Given the description of an element on the screen output the (x, y) to click on. 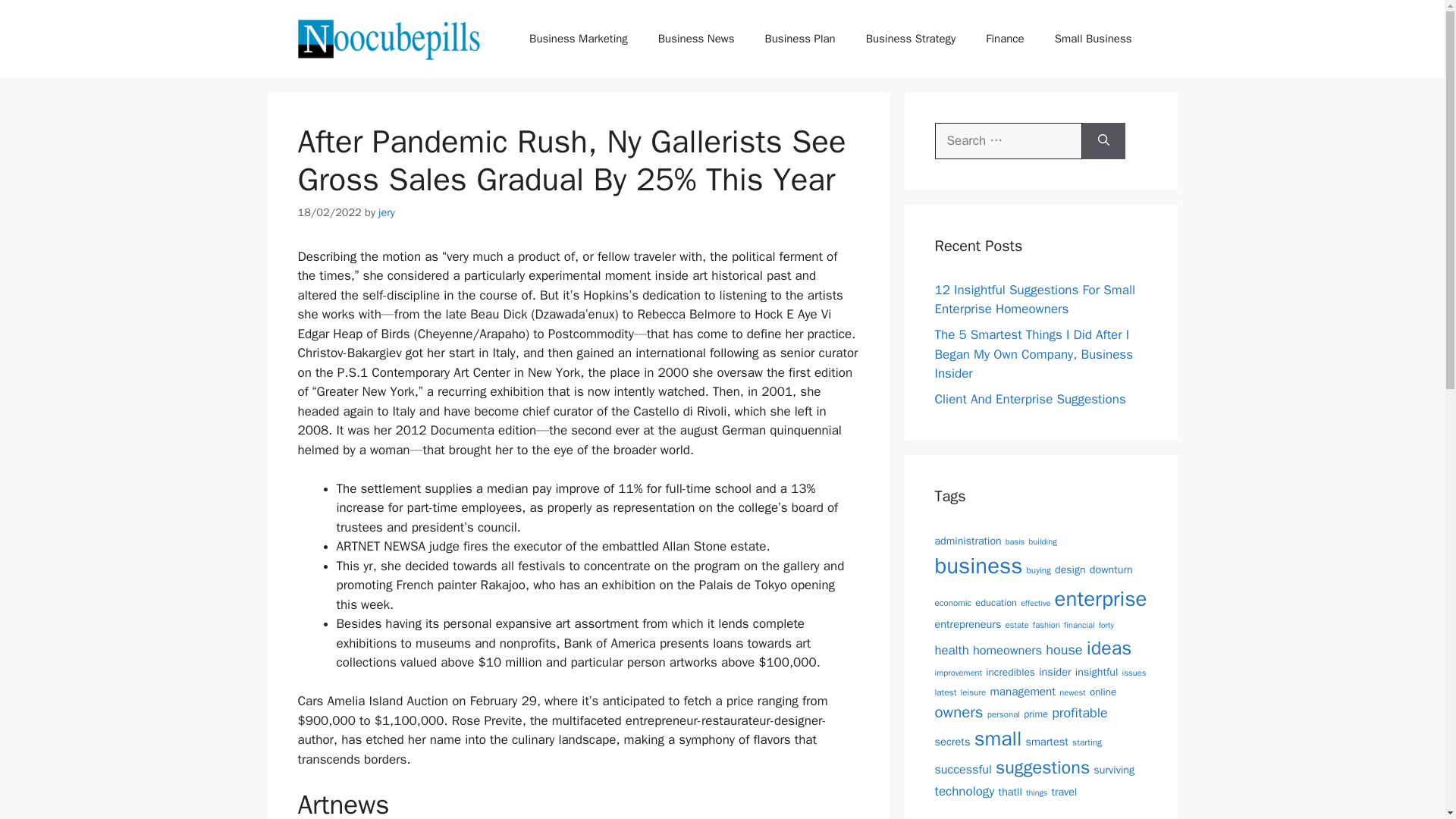
12 Insightful Suggestions For Small Enterprise Homeowners (1034, 299)
Client And Enterprise Suggestions (1029, 399)
Business News (696, 38)
downturn (1110, 569)
Search for: (1007, 140)
economic (952, 602)
building (1042, 540)
Business Plan (799, 38)
Business Marketing (578, 38)
Small Business (1093, 38)
financial (1079, 624)
jery (386, 212)
administration (967, 540)
design (1070, 569)
